Given the description of an element on the screen output the (x, y) to click on. 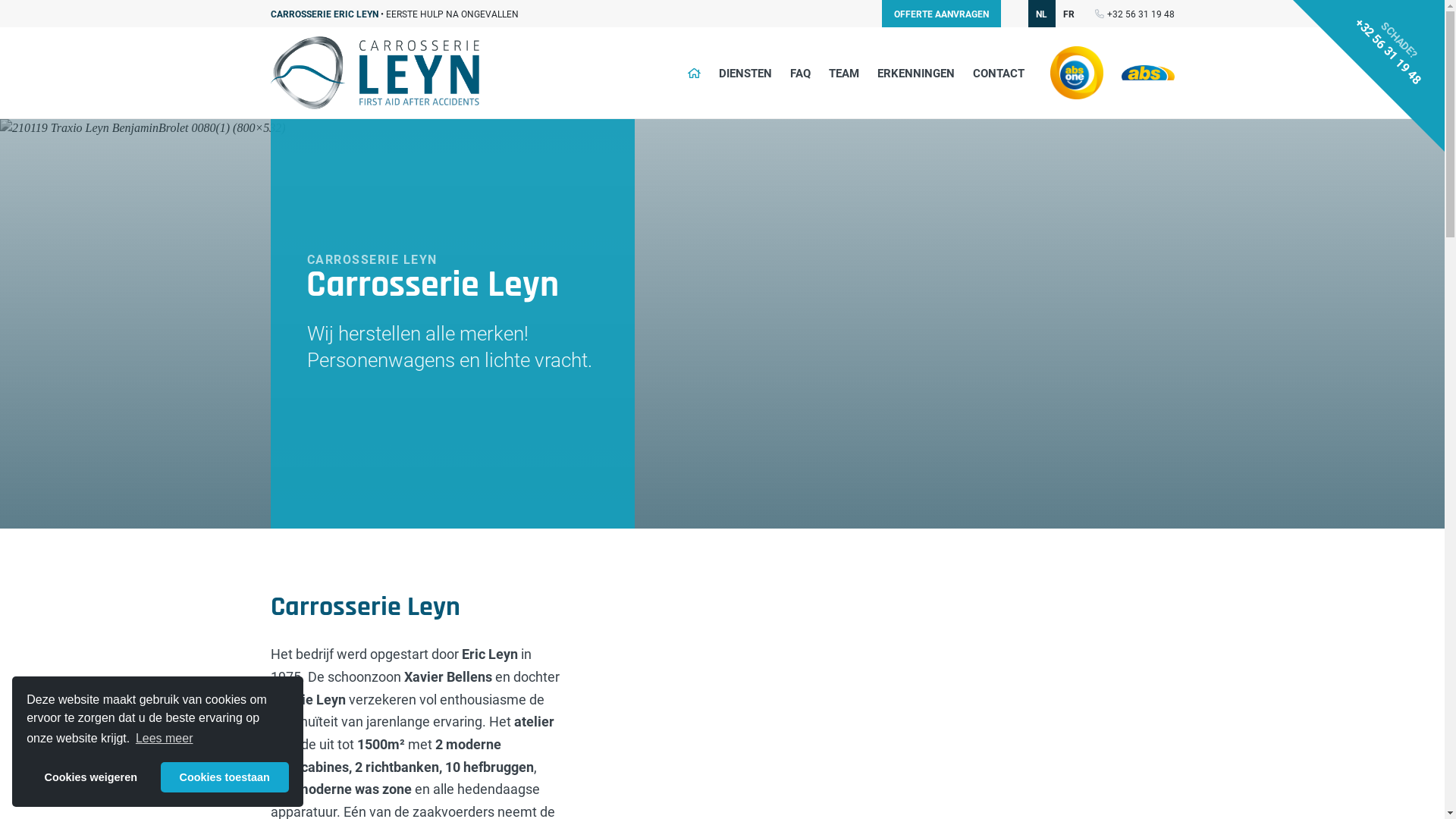
FAQ Element type: text (800, 72)
Lees meer Element type: text (164, 738)
ERKENNINGEN Element type: text (915, 72)
SCHADE?
+32 56 31 19 48 Element type: text (1368, 75)
FR Element type: text (1068, 13)
DIENSTEN Element type: text (745, 72)
Cookies toestaan Element type: text (224, 777)
TEAM Element type: text (843, 72)
+32 56 31 19 48 Element type: text (1140, 13)
NL Element type: text (1041, 13)
OFFERTE AANVRAGEN Element type: text (940, 13)
CONTACT Element type: text (997, 72)
Cookies weigeren Element type: text (90, 777)
